Given the description of an element on the screen output the (x, y) to click on. 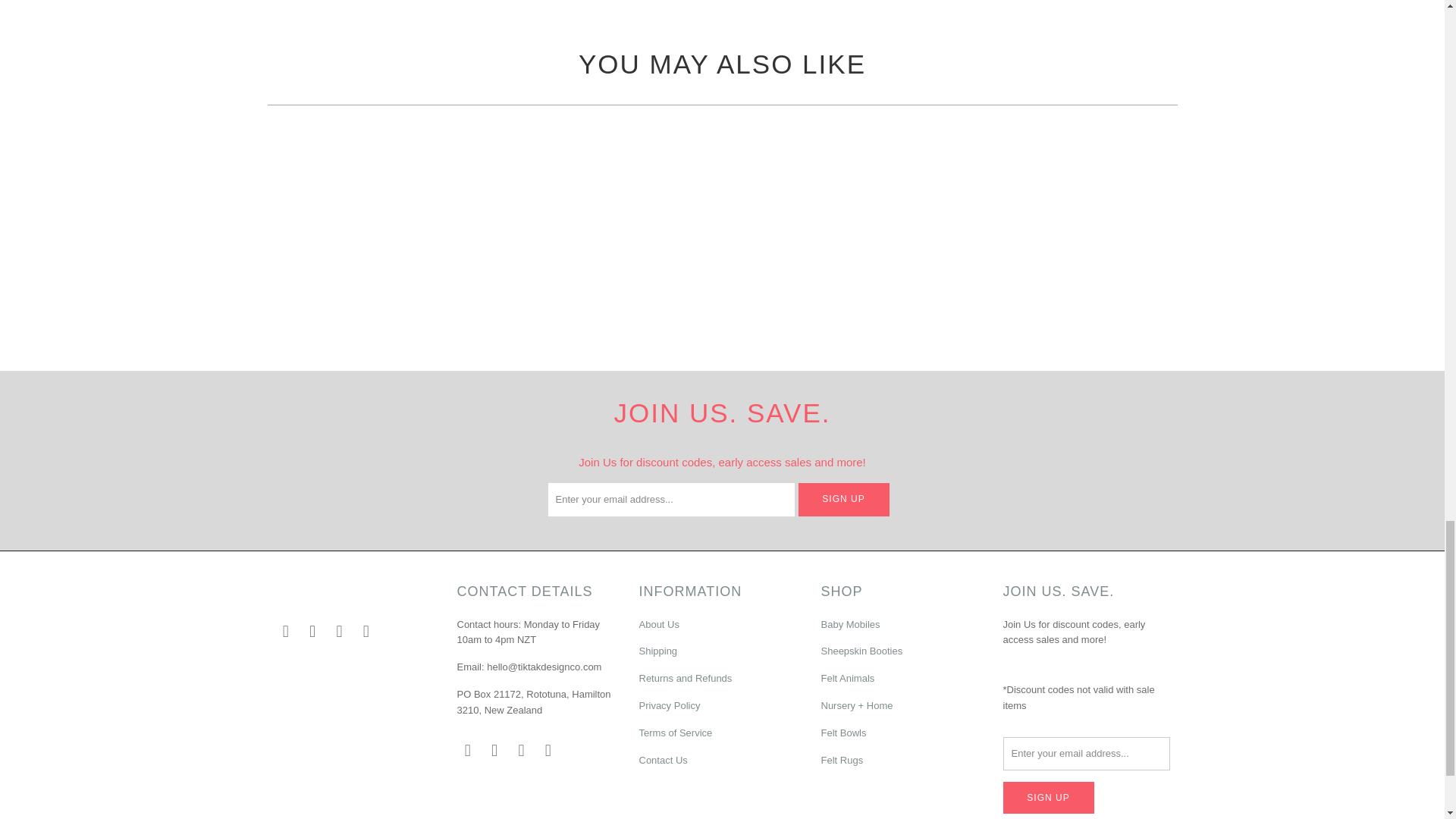
Tik Tak Design Co. on Pinterest (312, 631)
Sign Up (1048, 798)
Tik Tak Design Co. on Facebook (286, 631)
Sign Up (842, 499)
